Given the description of an element on the screen output the (x, y) to click on. 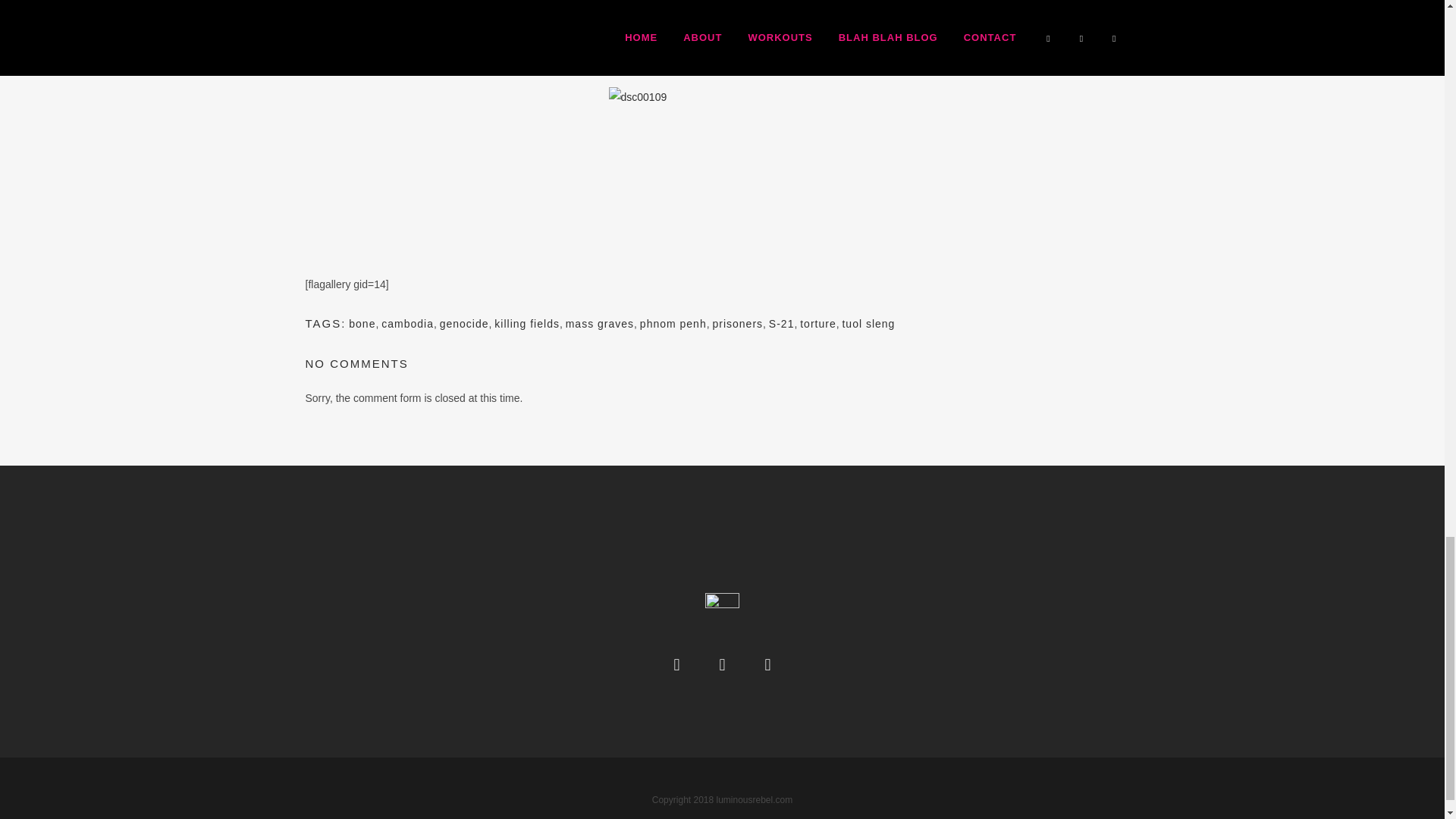
torture (817, 323)
S-21 (781, 323)
cambodia (407, 323)
genocide (464, 323)
phnom penh (673, 323)
tuol sleng (868, 323)
bone (362, 323)
prisoners (736, 323)
mass graves (599, 323)
killing fields (527, 323)
